Given the description of an element on the screen output the (x, y) to click on. 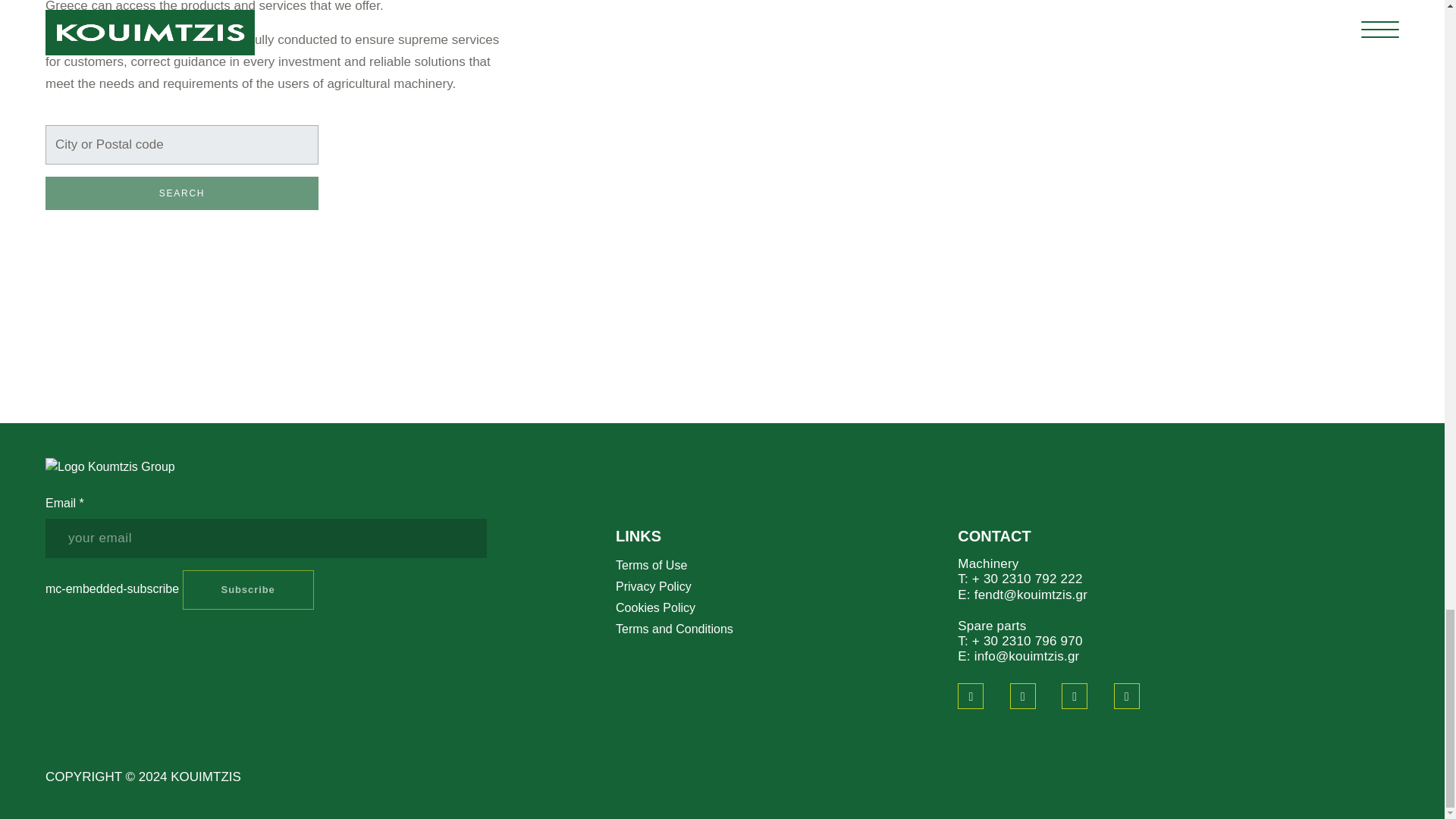
Privacy Policy (653, 585)
Cookies Policy (655, 607)
Terms and Conditions (674, 628)
Terms of Use (651, 564)
Subscribe (248, 589)
SEARCH (181, 192)
Subscribe (248, 589)
